Given the description of an element on the screen output the (x, y) to click on. 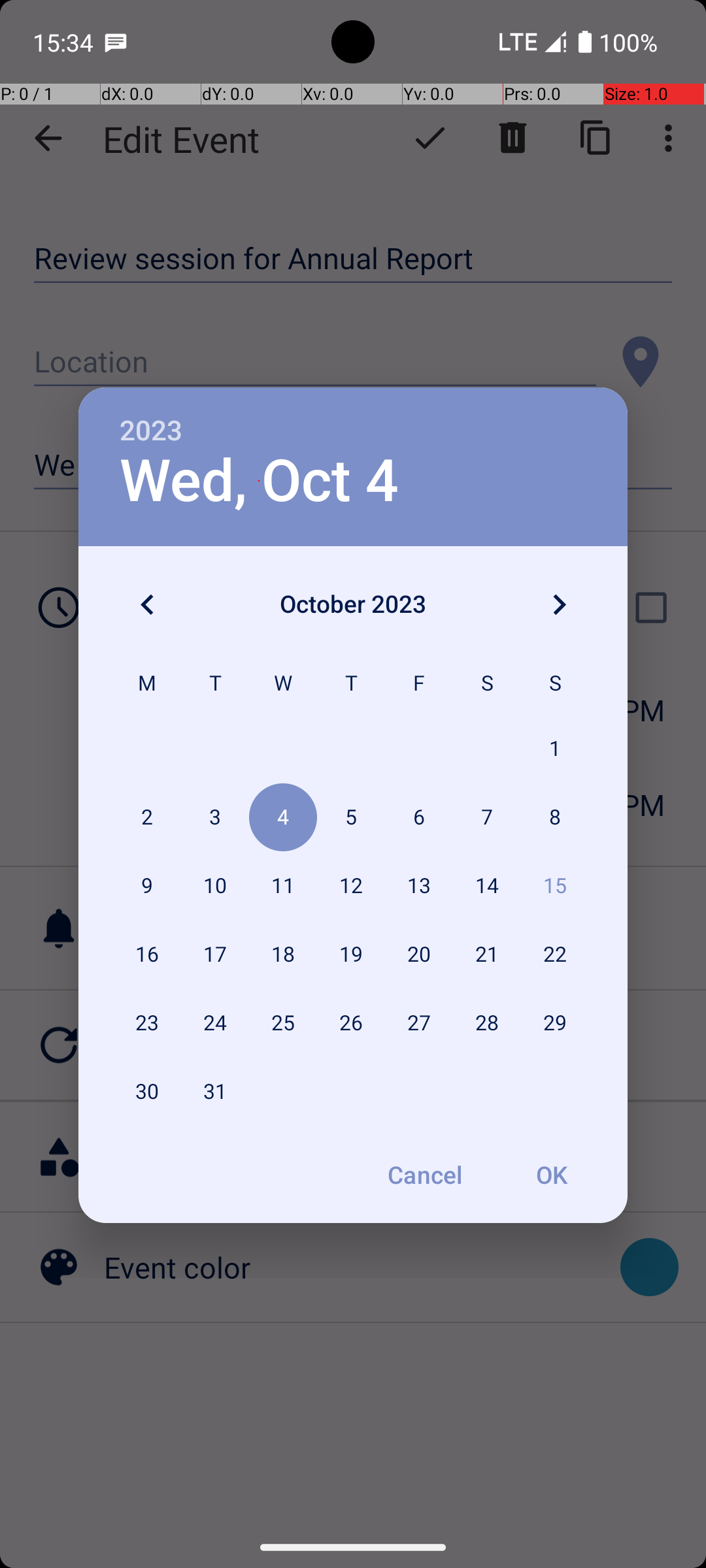
Wed, Oct 4 Element type: android.widget.TextView (258, 480)
